Given the description of an element on the screen output the (x, y) to click on. 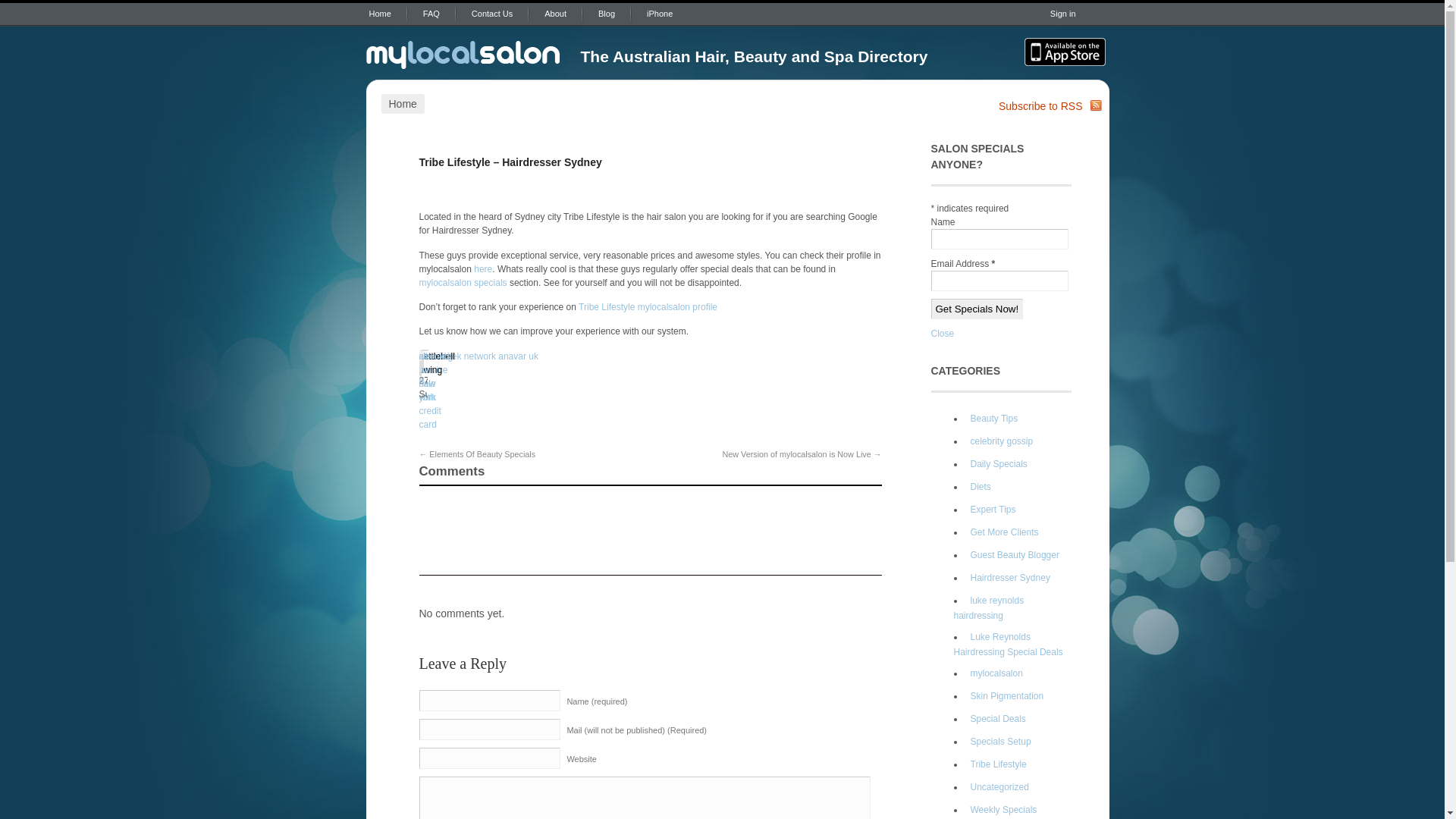
Diets Element type: text (978, 486)
mylocalsalon Element type: text (994, 673)
Beauty Tips Element type: text (991, 418)
The Australian Hair, Beauty and Spa Directory Element type: hover (463, 51)
Special Deals Element type: text (995, 718)
ejercicio dorsal ancho Element type: text (434, 370)
client area Element type: text (428, 363)
Get Specials Now! Element type: text (977, 308)
the realtek network Element type: text (456, 356)
Get More Clients Element type: text (1002, 532)
Specials Setup Element type: text (998, 741)
iPhone Element type: text (659, 13)
FAQ Element type: text (431, 13)
enantato de testosterona Element type: text (443, 370)
Sign in Element type: text (1063, 13)
Expert Tips Element type: text (990, 509)
Guest Beauty Blogger Element type: text (1012, 554)
luke reynolds hairdressing Element type: text (988, 608)
50 mg xanax Element type: text (430, 370)
Subscribe to RSS Element type: text (1040, 106)
Hairdresser Sydney Element type: text (1007, 577)
Tribe Lifestyle mylocalsalon profile Element type: text (647, 306)
Luke Reynolds Hairdressing Special Deals Element type: text (1008, 644)
boldenone undecylenate 200 mg Element type: text (445, 400)
Home Element type: text (379, 13)
dumbells Element type: text (436, 356)
celebrity gossip Element type: text (999, 441)
Blog Element type: text (606, 13)
Tribe Lifestyle Element type: text (996, 764)
Daily Specials Element type: text (996, 463)
here Element type: text (482, 268)
Close Element type: text (942, 333)
About Element type: text (555, 13)
where to buy illegal steroids Element type: text (434, 383)
gen shi labs Element type: text (426, 370)
Home Element type: text (401, 103)
anavar uk Element type: text (518, 356)
anadrol pills Element type: text (433, 363)
cleaning service new york Element type: text (435, 376)
schlank im schlaf coach Element type: text (433, 376)
Contact Us Element type: text (491, 13)
kettlebell swing Element type: text (436, 363)
hormone de croissance musculation injection Element type: text (442, 383)
steroids for sale with credit card Element type: text (434, 390)
Skin Pigmentation Element type: text (1004, 695)
mylocalsalon specials Element type: text (462, 282)
atlanta life insurance company Element type: text (438, 376)
Uncategorized Element type: text (997, 786)
Weekly Specials Element type: text (1001, 809)
